Given the description of an element on the screen output the (x, y) to click on. 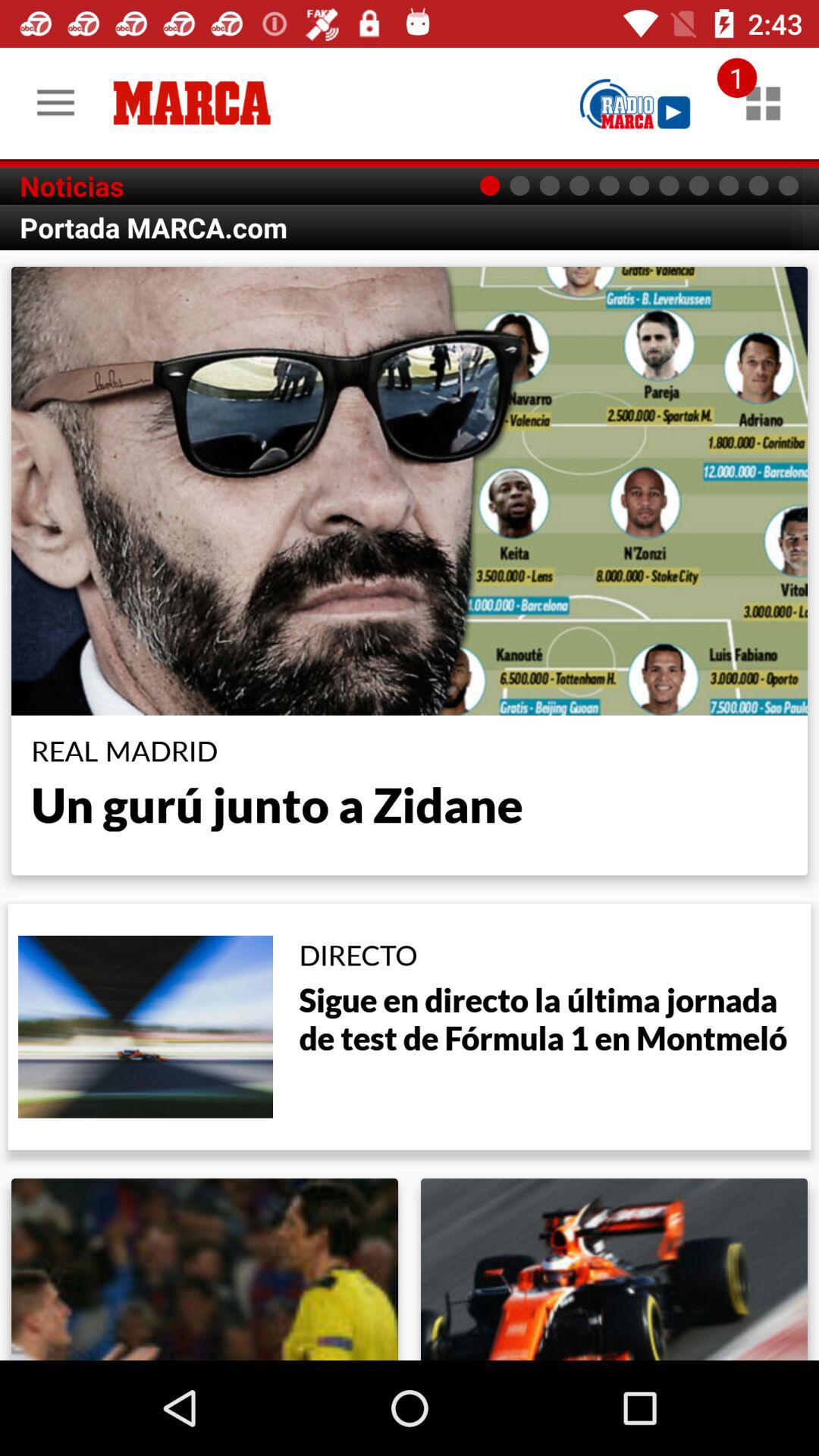
open page (635, 103)
